Given the description of an element on the screen output the (x, y) to click on. 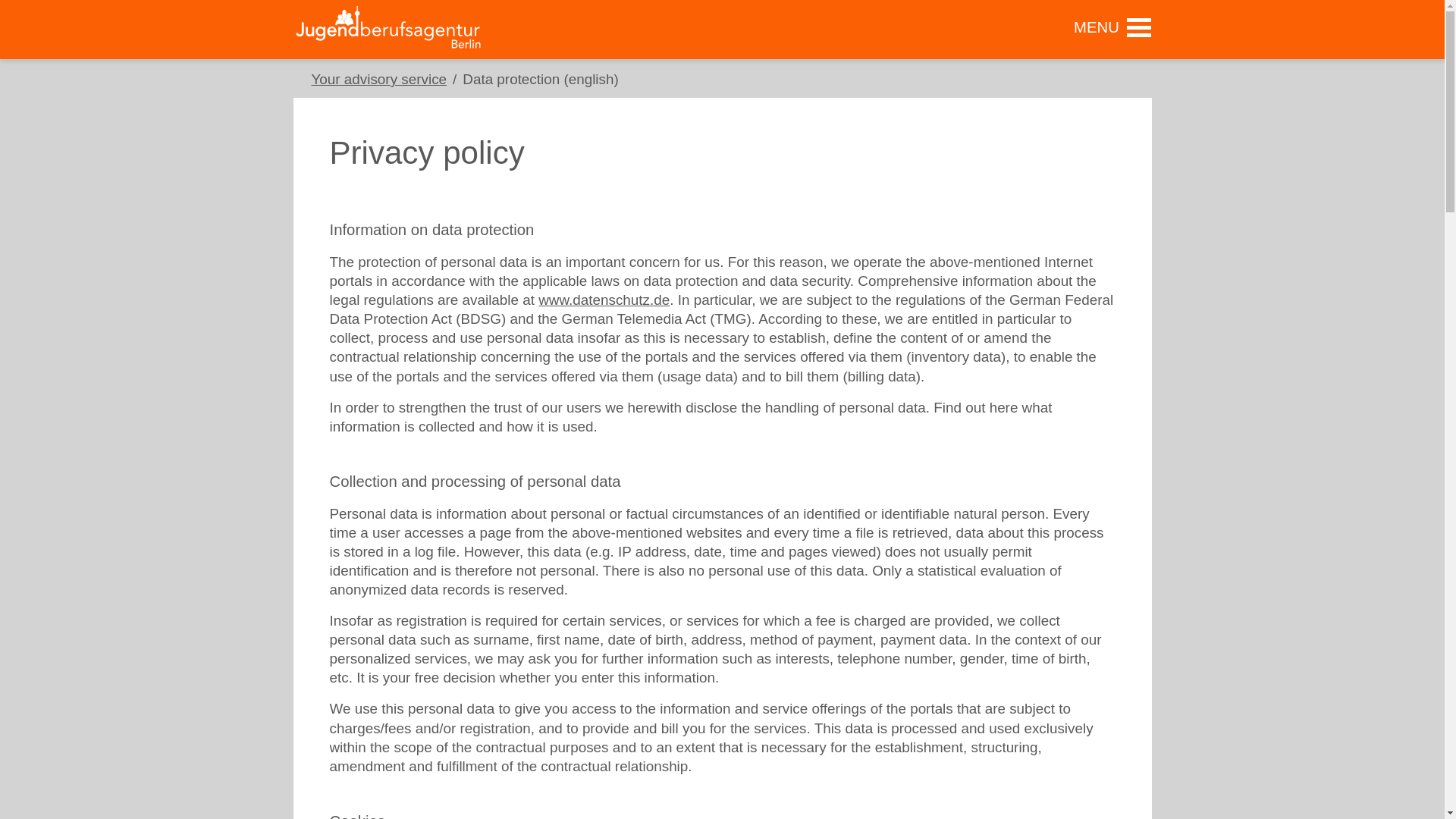
Your advisory service (378, 78)
www.datenschutz.de (603, 299)
To the German homepage (386, 27)
In new window: www.datenschutz.de (603, 299)
MENU (1107, 26)
Open menu (1107, 26)
Your advisory service (378, 78)
